Given the description of an element on the screen output the (x, y) to click on. 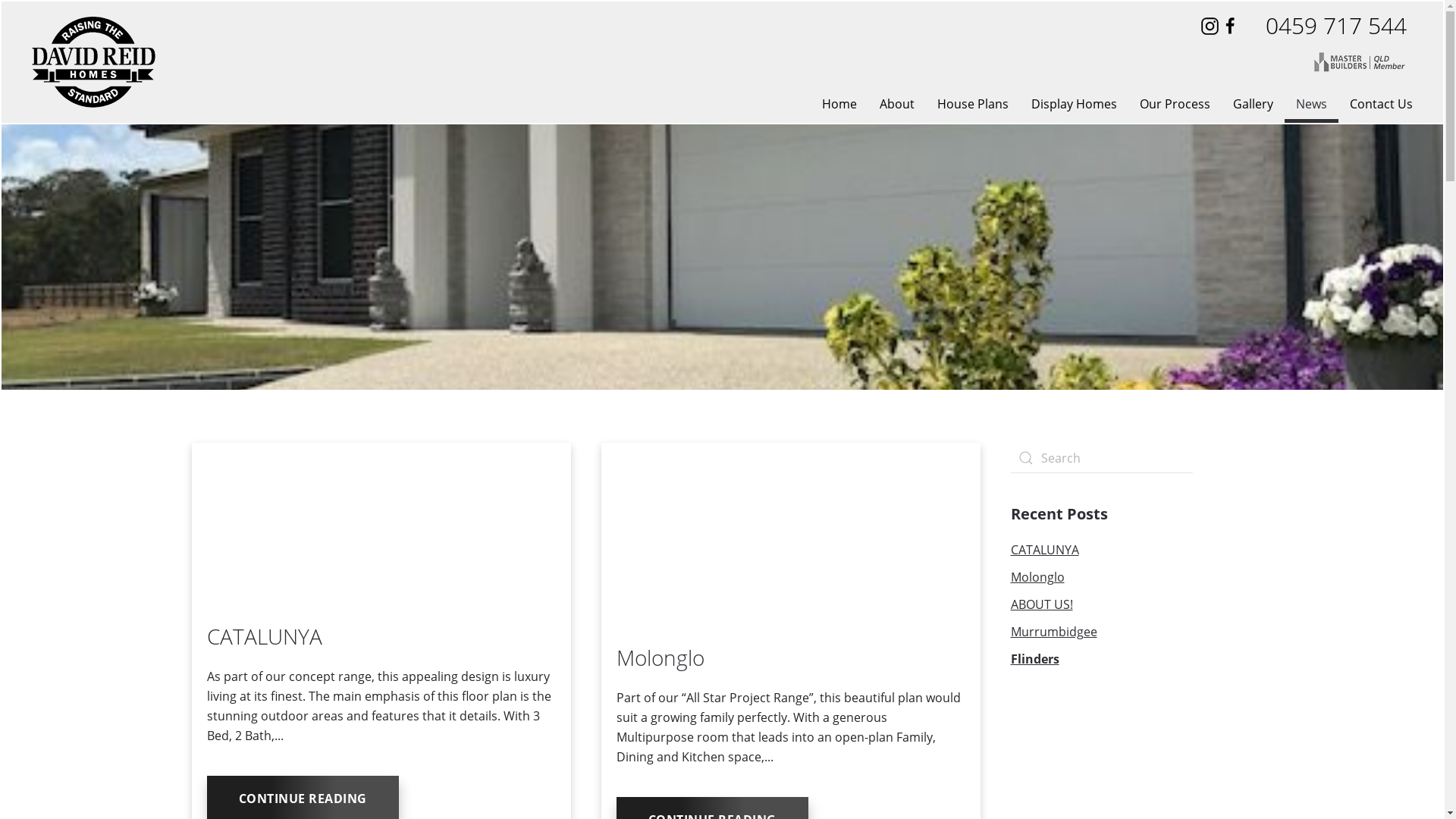
Molonglo Element type: text (659, 657)
Display Homes Element type: text (1073, 103)
Molonglo Element type: text (1036, 576)
Our Process Element type: text (1174, 103)
News Element type: text (1311, 103)
CATALUNYA Element type: text (1044, 549)
Gallery Element type: text (1252, 103)
CATALUNYA Element type: text (263, 635)
Flinders Element type: text (1034, 658)
Home Element type: text (839, 103)
About Element type: text (896, 103)
Contact Us Element type: text (1381, 103)
House Plans Element type: text (972, 103)
Murrumbidgee Element type: text (1053, 631)
0459 717 544 Element type: text (1335, 24)
ABOUT US! Element type: text (1041, 604)
